Given the description of an element on the screen output the (x, y) to click on. 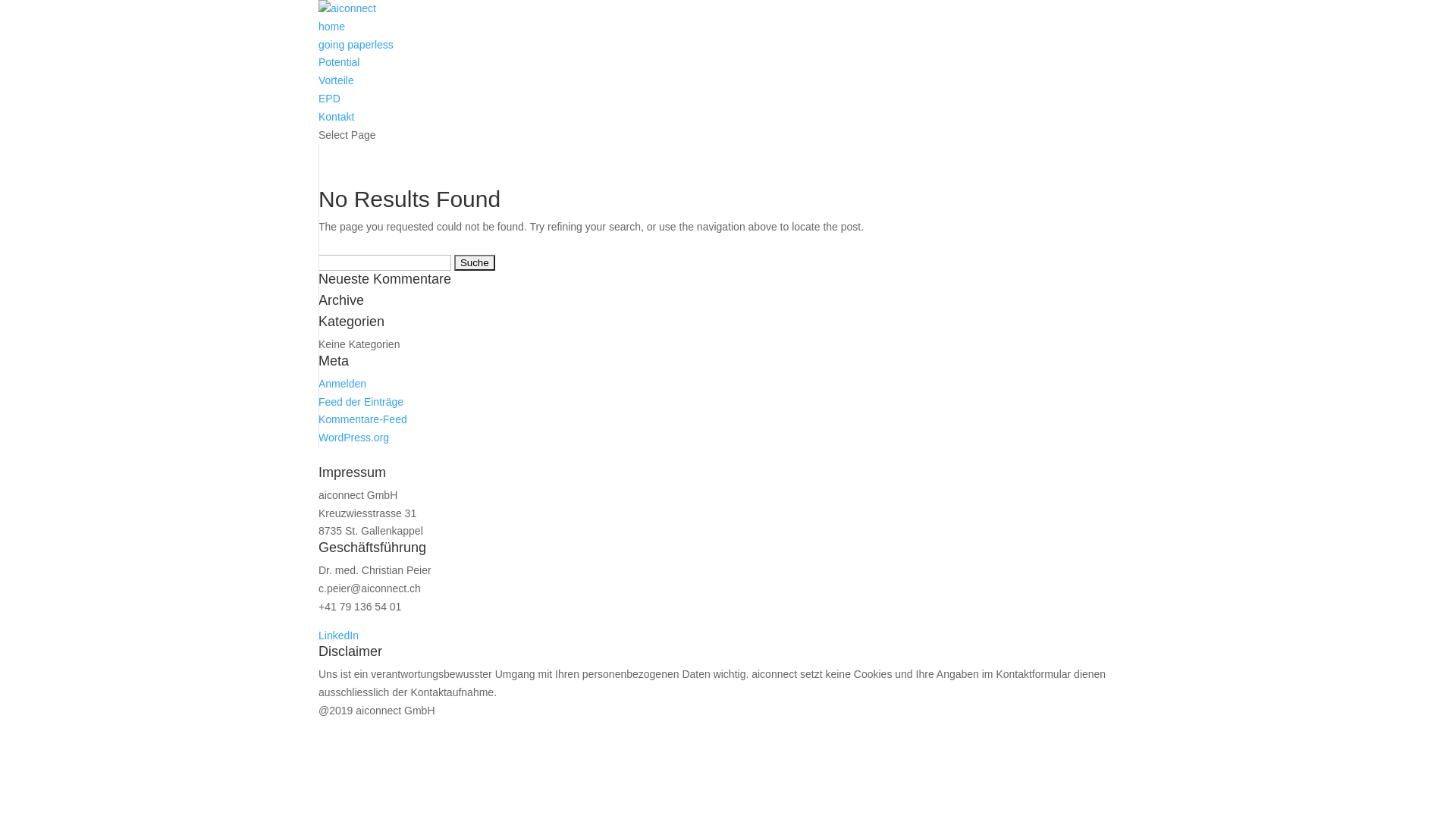
EPD Element type: text (329, 98)
Kommentare-Feed Element type: text (362, 419)
Potential Element type: text (338, 62)
LinkedIn Element type: text (338, 635)
Kontakt Element type: text (336, 116)
Vorteile Element type: text (336, 80)
WordPress.org Element type: text (353, 437)
Anmelden Element type: text (342, 383)
going paperless Element type: text (355, 44)
home Element type: text (331, 26)
Suche Element type: text (474, 262)
